Given the description of an element on the screen output the (x, y) to click on. 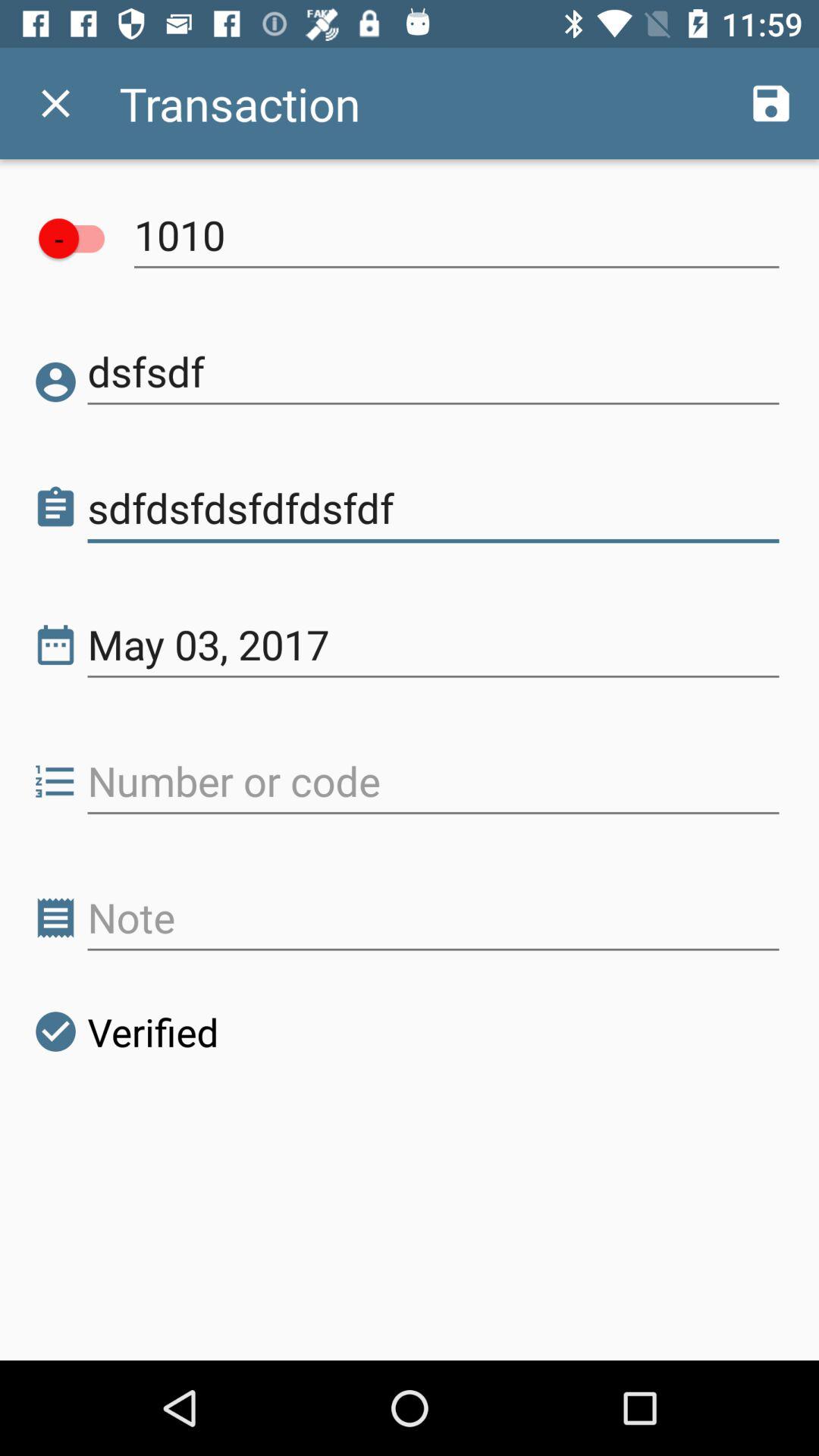
launch the verified icon (124, 1031)
